Given the description of an element on the screen output the (x, y) to click on. 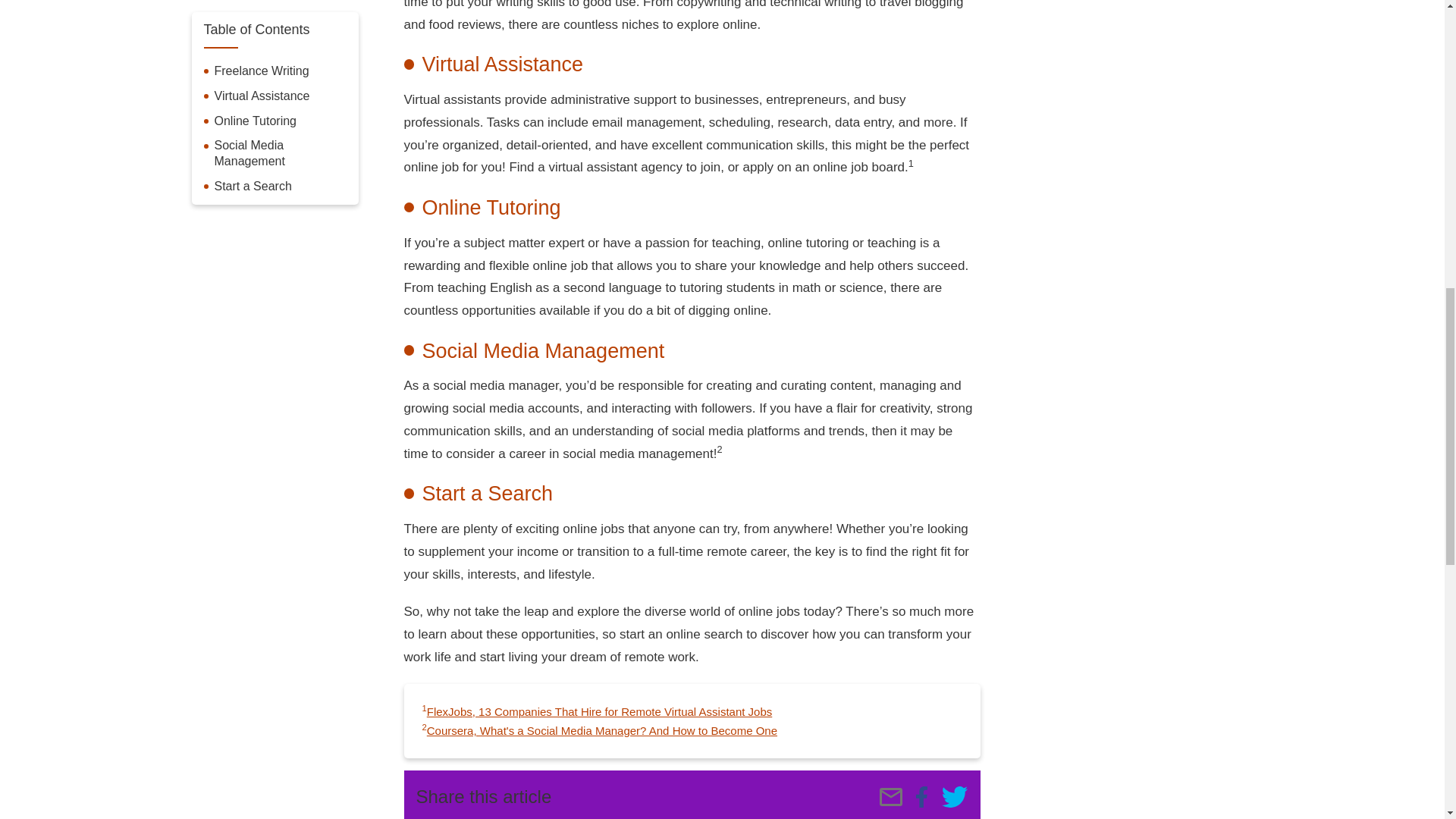
Share by Email (890, 796)
Remote Work Made Easy: The Best Online Jobs To Try (954, 796)
